Given the description of an element on the screen output the (x, y) to click on. 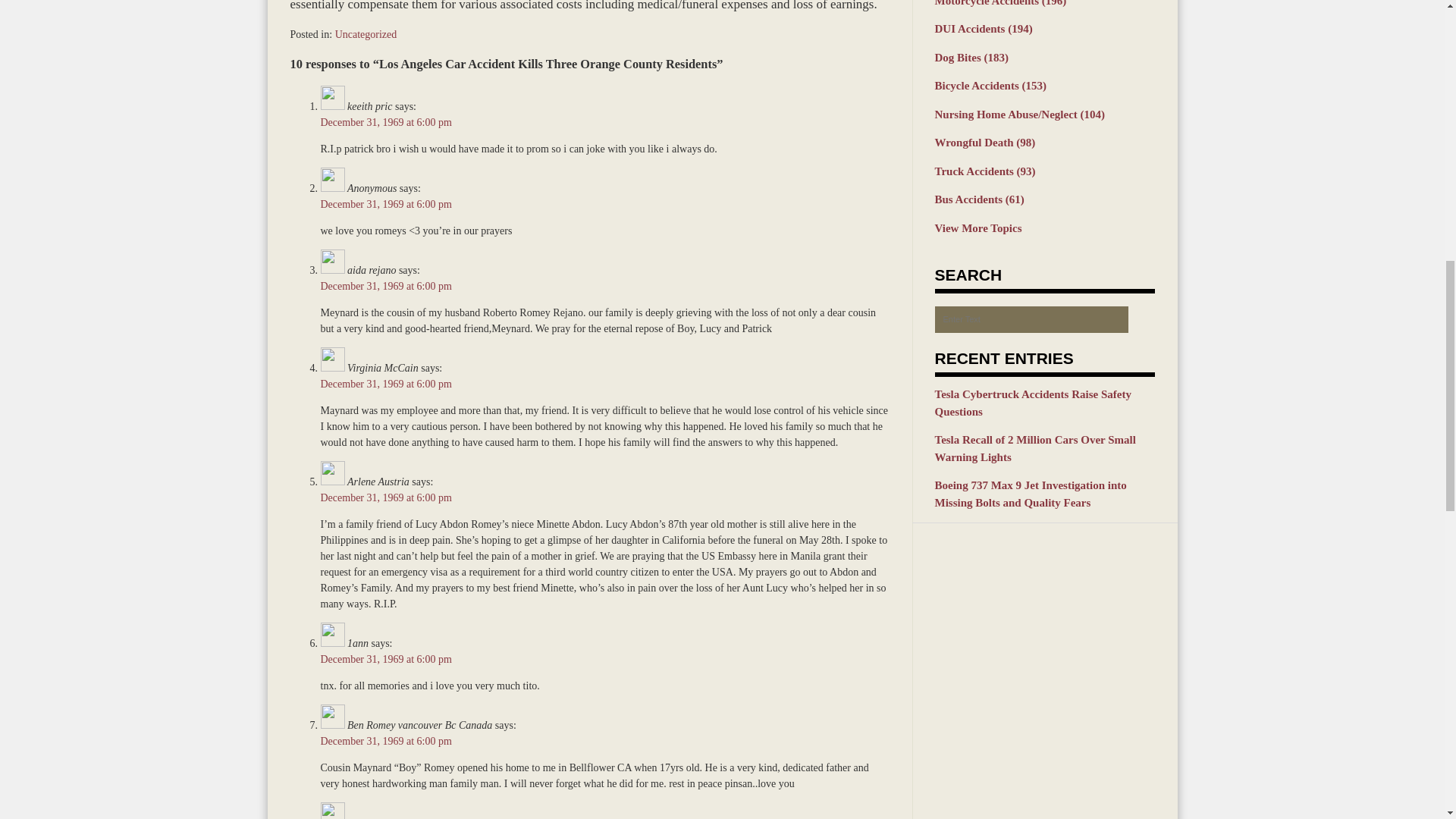
December 31, 1969 at 6:00 pm (385, 204)
December 31, 1969 at 6:00 pm (385, 122)
December 31, 1969 at 6:00 pm (385, 285)
Uncategorized (365, 34)
December 31, 1969 at 6:00 pm (385, 740)
View all posts in Uncategorized (365, 34)
December 31, 1969 at 6:00 pm (385, 383)
December 31, 1969 at 6:00 pm (385, 659)
December 31, 1969 at 6:00 pm (385, 497)
